Given the description of an element on the screen output the (x, y) to click on. 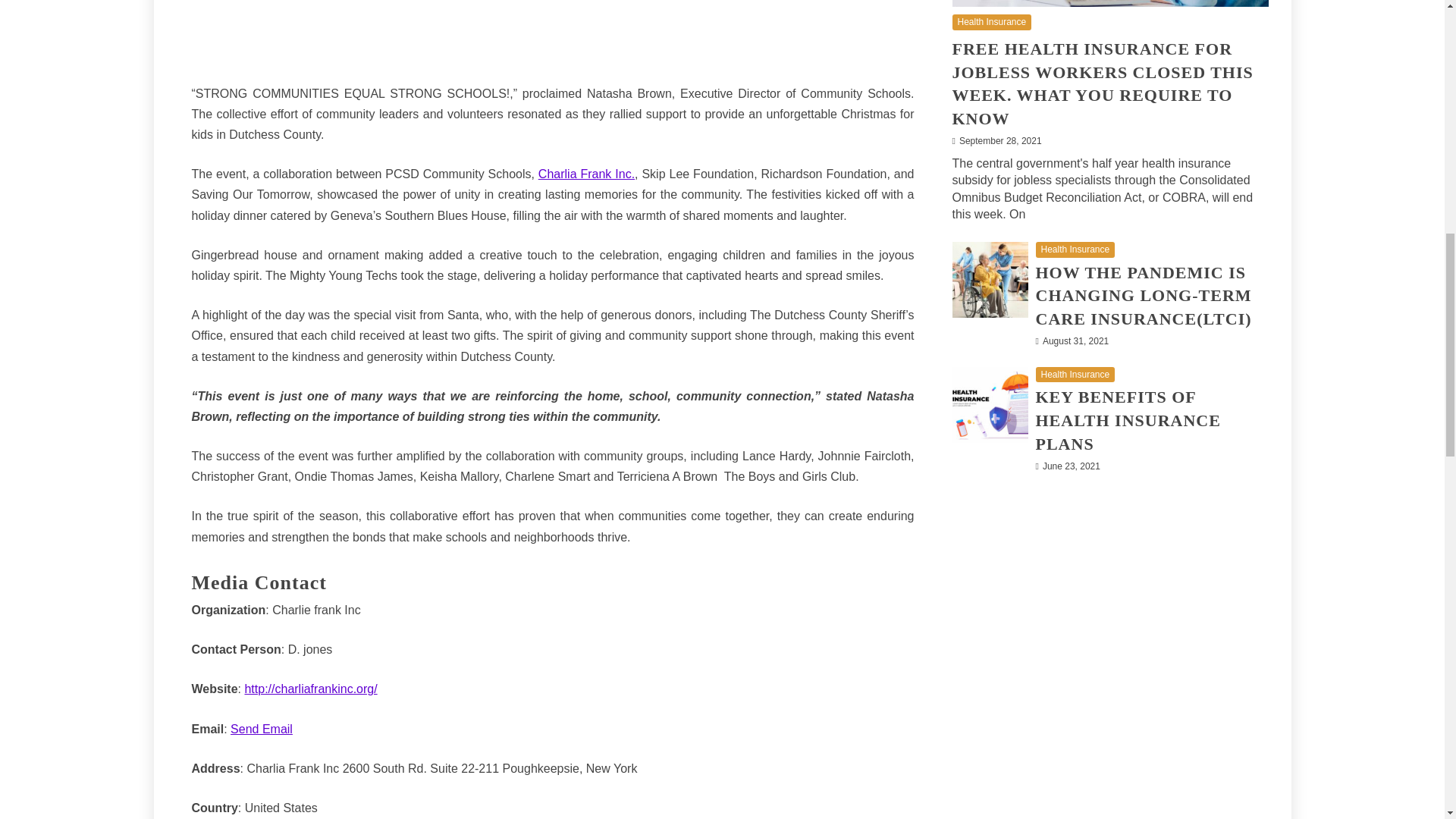
Send Email (261, 728)
Charlia Frank Inc. (586, 173)
